Given the description of an element on the screen output the (x, y) to click on. 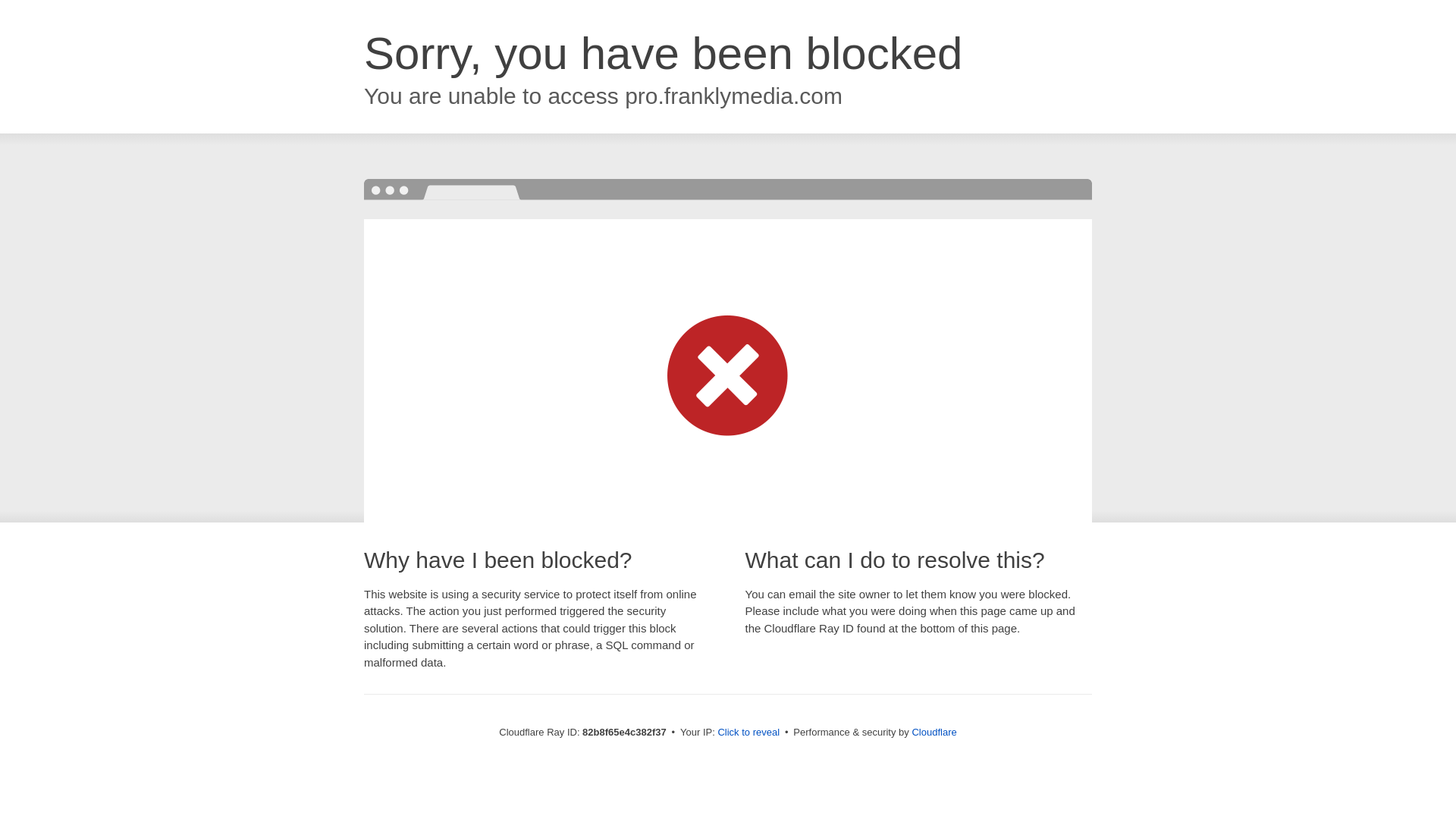
Click to reveal Element type: text (748, 732)
Cloudflare Element type: text (933, 731)
